Given the description of an element on the screen output the (x, y) to click on. 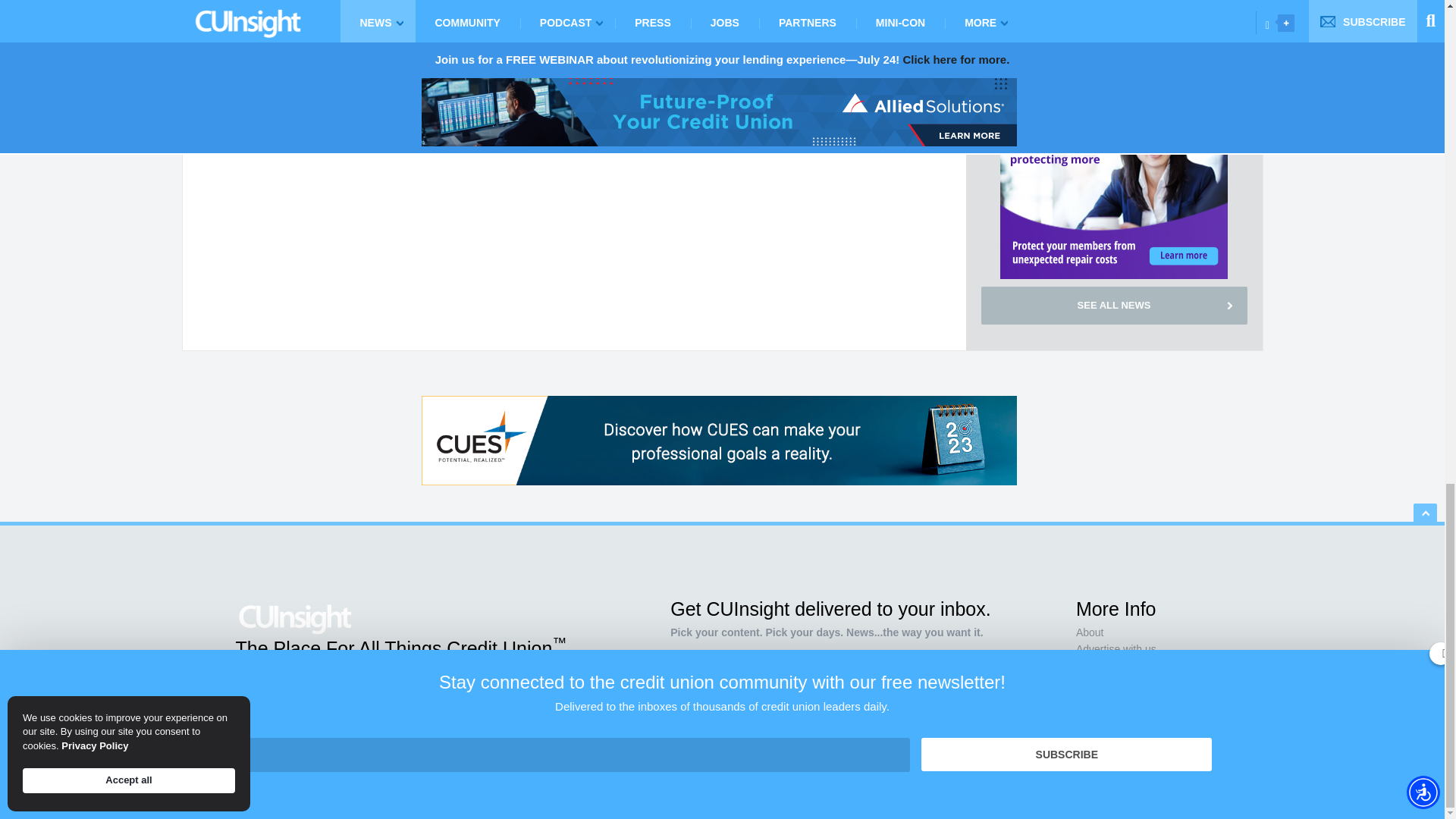
Facebook (237, 724)
Subscribe (909, 716)
linkedin (278, 724)
instagram (298, 724)
twitter (258, 724)
